Given the description of an element on the screen output the (x, y) to click on. 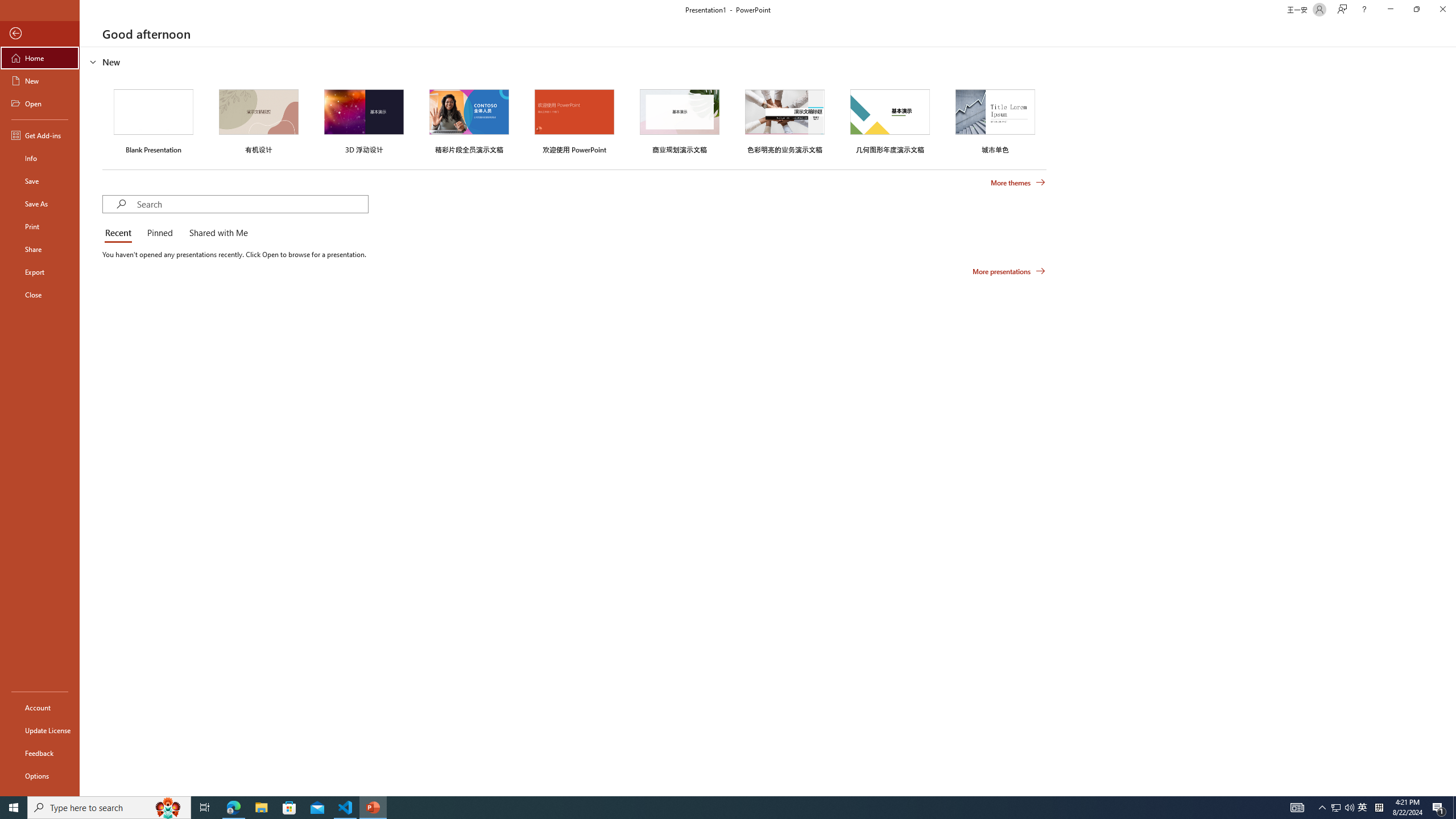
More themes (1018, 182)
Blank Presentation (153, 119)
Account (40, 707)
Hide or show region (92, 61)
Export (40, 271)
Pinned (159, 233)
Feedback (40, 753)
New (40, 80)
